Given the description of an element on the screen output the (x, y) to click on. 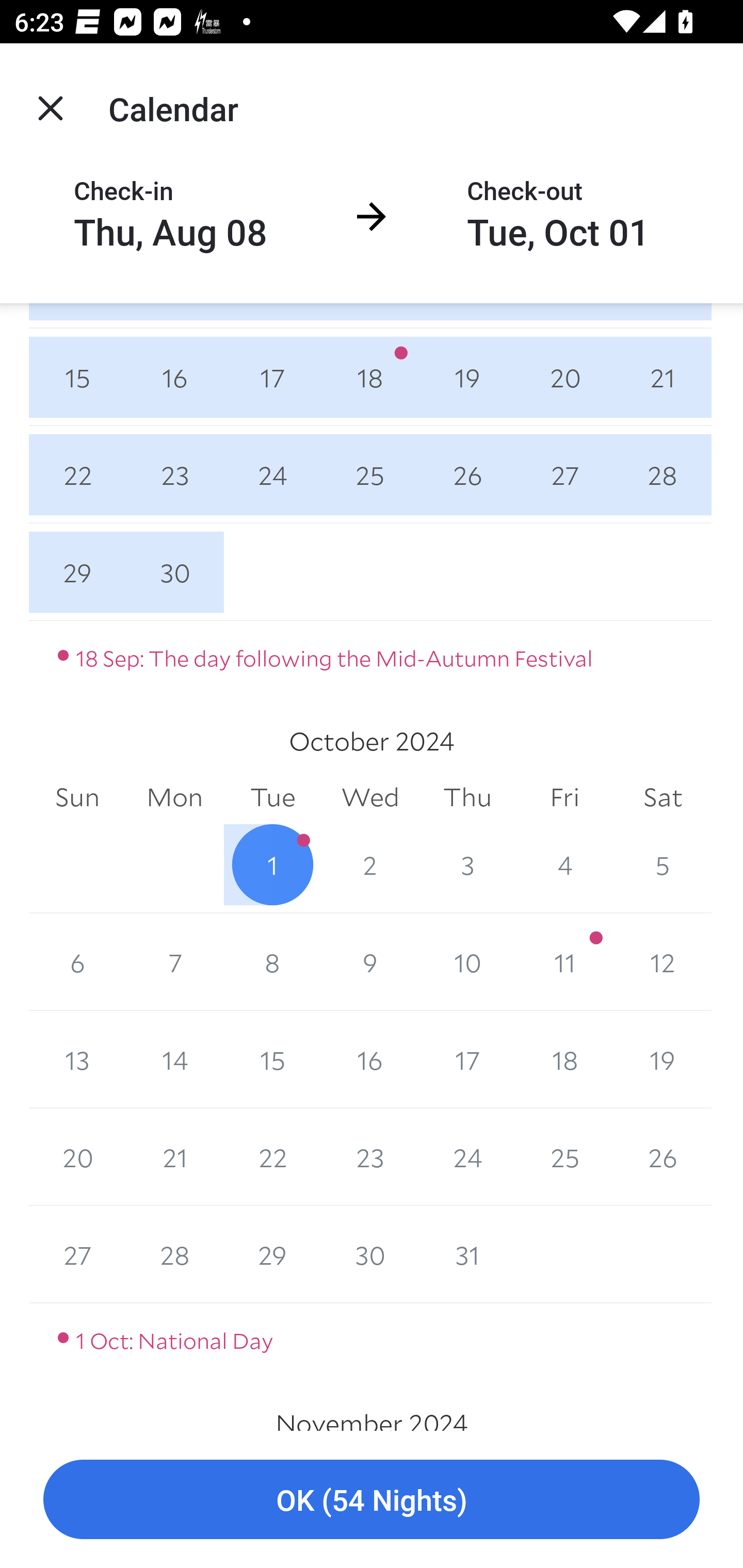
15 15 September 2024 (77, 377)
16 16 September 2024 (174, 377)
17 17 September 2024 (272, 377)
18 18 September 2024 (370, 377)
19 19 September 2024 (467, 377)
20 20 September 2024 (564, 377)
21 21 September 2024 (662, 377)
22 22 September 2024 (77, 474)
23 23 September 2024 (174, 474)
24 24 September 2024 (272, 474)
25 25 September 2024 (370, 474)
26 26 September 2024 (467, 474)
27 27 September 2024 (564, 474)
28 28 September 2024 (662, 474)
29 29 September 2024 (77, 571)
30 30 September 2024 (174, 571)
Sun (77, 797)
Mon (174, 797)
Tue (272, 797)
Wed (370, 797)
Thu (467, 797)
Fri (564, 797)
Sat (662, 797)
1 1 October 2024 (272, 864)
2 2 October 2024 (370, 864)
3 3 October 2024 (467, 864)
4 4 October 2024 (564, 864)
5 5 October 2024 (662, 864)
6 6 October 2024 (77, 962)
7 7 October 2024 (174, 962)
8 8 October 2024 (272, 962)
9 9 October 2024 (370, 962)
10 10 October 2024 (467, 962)
11 11 October 2024 (564, 962)
12 12 October 2024 (662, 962)
13 13 October 2024 (77, 1059)
14 14 October 2024 (174, 1059)
15 15 October 2024 (272, 1059)
16 16 October 2024 (370, 1059)
17 17 October 2024 (467, 1059)
18 18 October 2024 (564, 1059)
19 19 October 2024 (662, 1059)
20 20 October 2024 (77, 1156)
21 21 October 2024 (174, 1156)
22 22 October 2024 (272, 1156)
23 23 October 2024 (370, 1156)
24 24 October 2024 (467, 1156)
25 25 October 2024 (564, 1156)
26 26 October 2024 (662, 1156)
27 27 October 2024 (77, 1254)
28 28 October 2024 (174, 1254)
29 29 October 2024 (272, 1254)
30 30 October 2024 (370, 1254)
31 31 October 2024 (467, 1254)
OK (54 Nights) (371, 1499)
